Given the description of an element on the screen output the (x, y) to click on. 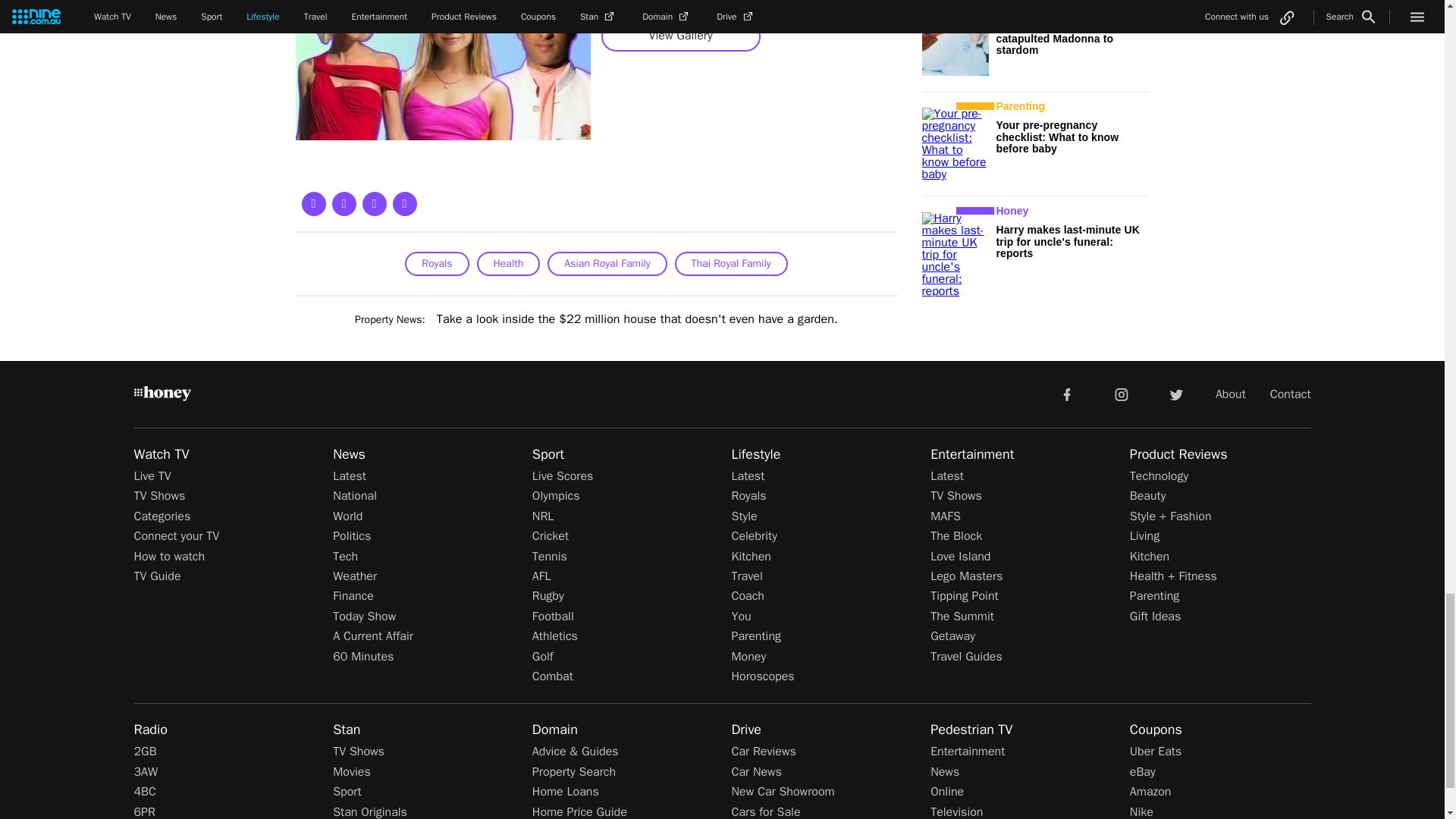
twitter (1175, 393)
facebook (1066, 393)
instagram (1121, 393)
